Given the description of an element on the screen output the (x, y) to click on. 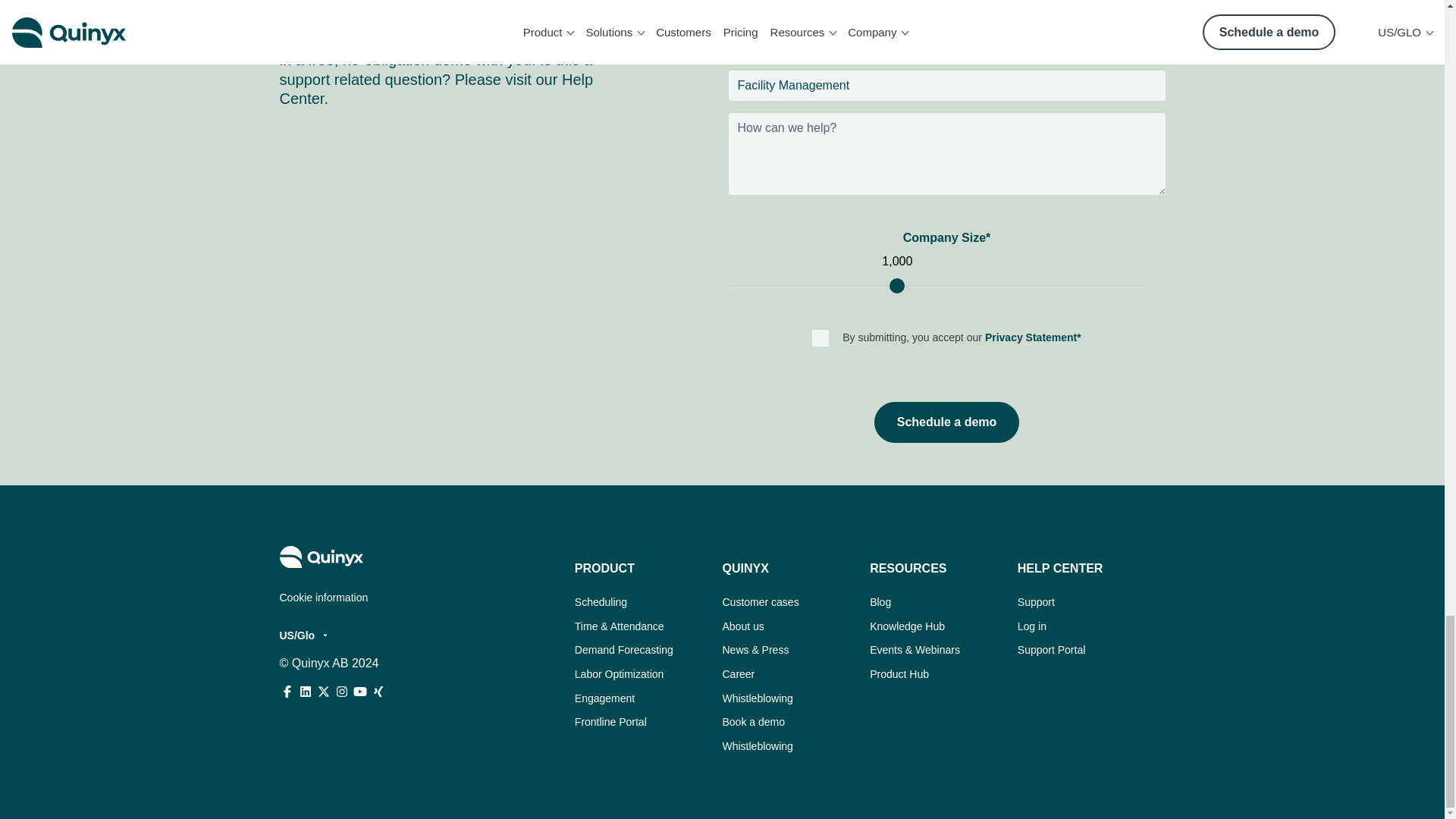
Schedule a demo (947, 422)
